Given the description of an element on the screen output the (x, y) to click on. 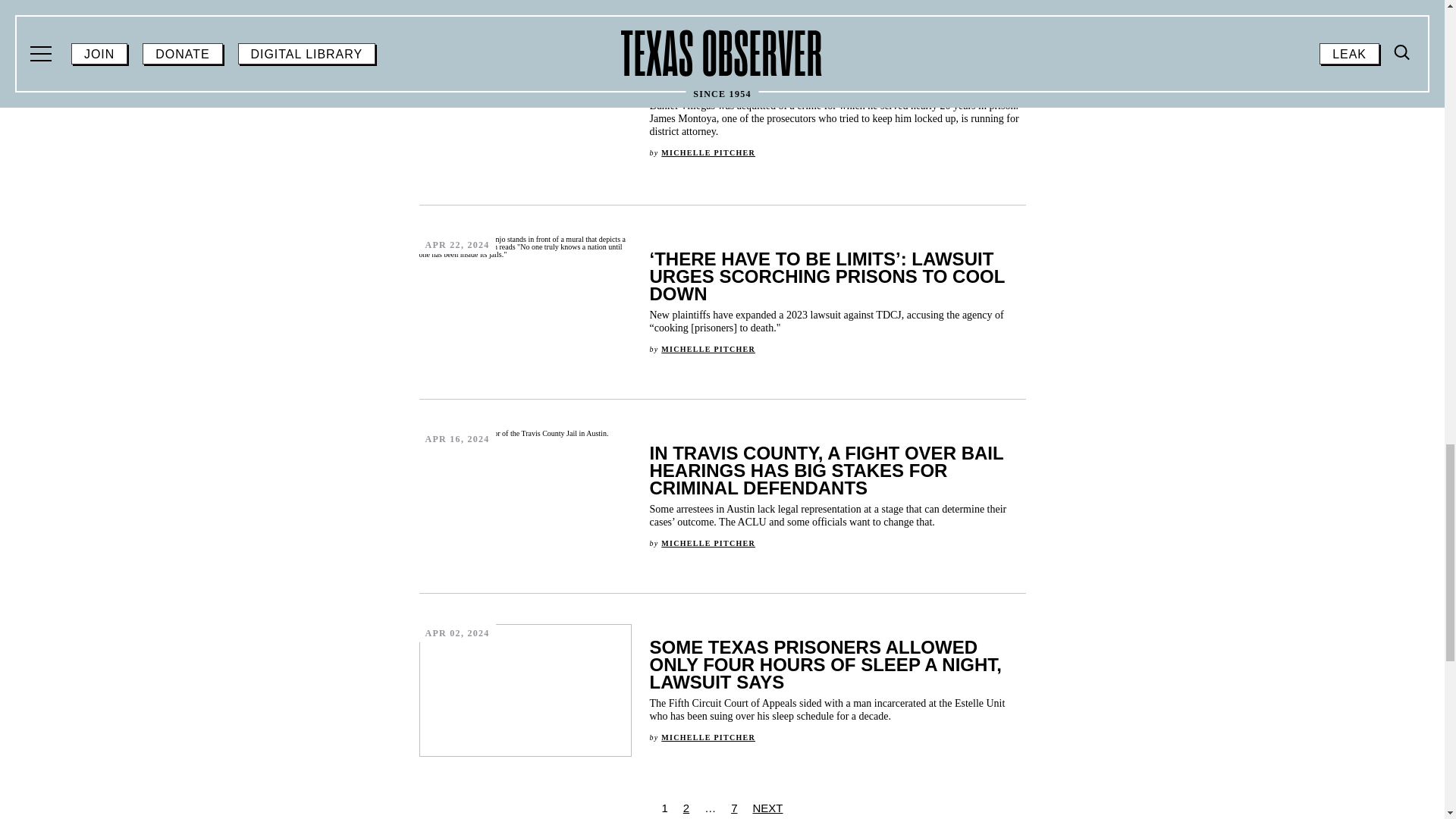
Post by Michelle Pitcher (708, 542)
Post by Michelle Pitcher (708, 152)
Post by Michelle Pitcher (708, 736)
Post by Michelle Pitcher (708, 347)
